Given the description of an element on the screen output the (x, y) to click on. 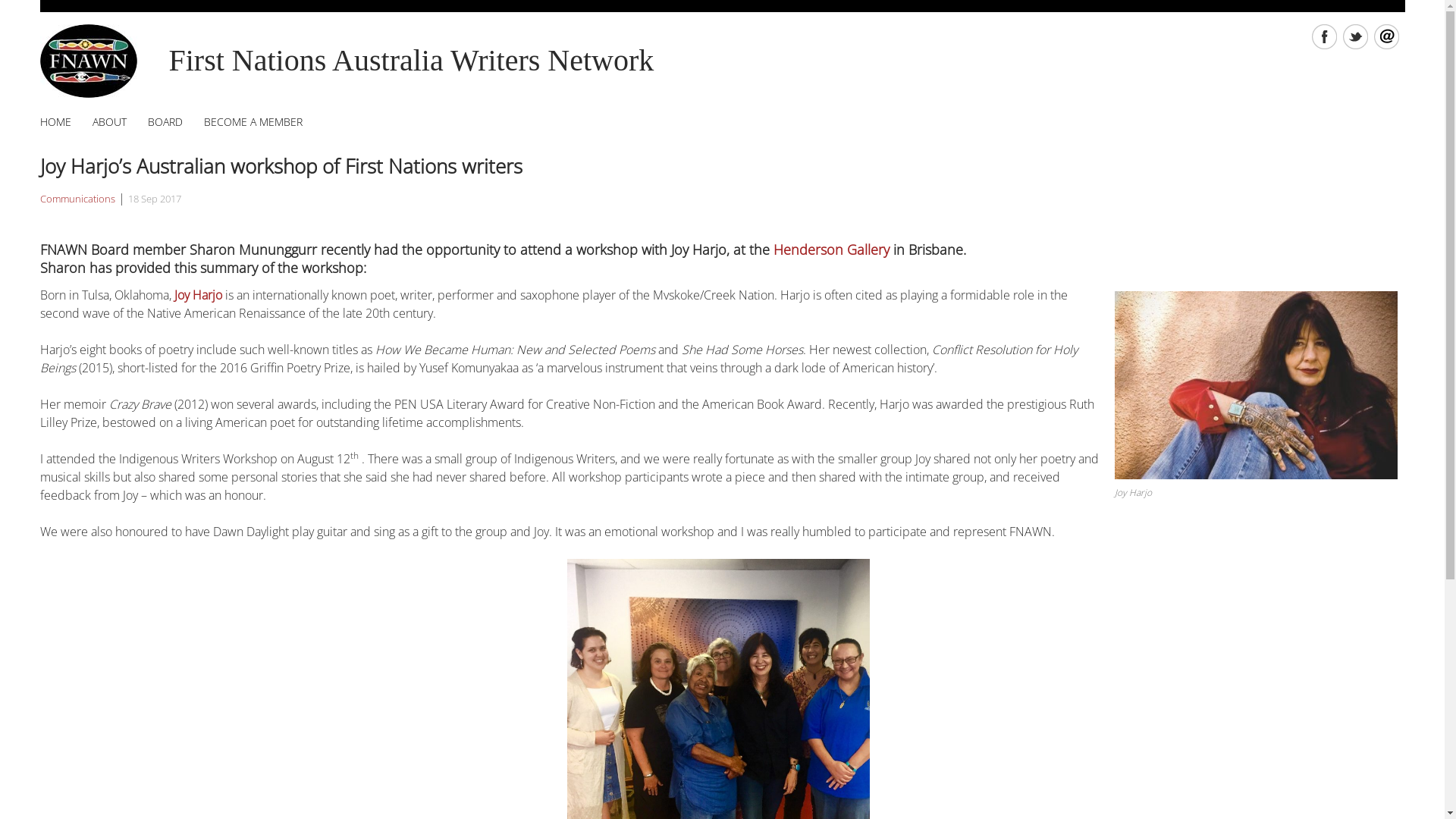
Facebook Element type: hover (1327, 44)
ABOUT Element type: text (109, 121)
BECOME A MEMBER Element type: text (252, 121)
Communications Element type: text (76, 198)
HOME Element type: text (54, 121)
BOARD Element type: text (164, 121)
Email Element type: hover (1389, 44)
Joy Harjo Element type: text (198, 294)
Twitter Element type: hover (1357, 44)
Henderson Gallery Element type: text (831, 249)
First Nations Australia Writers' Network Element type: hover (87, 60)
Search Element type: text (39, 14)
SKIP TO CONTENT Element type: text (83, 111)
